Given the description of an element on the screen output the (x, y) to click on. 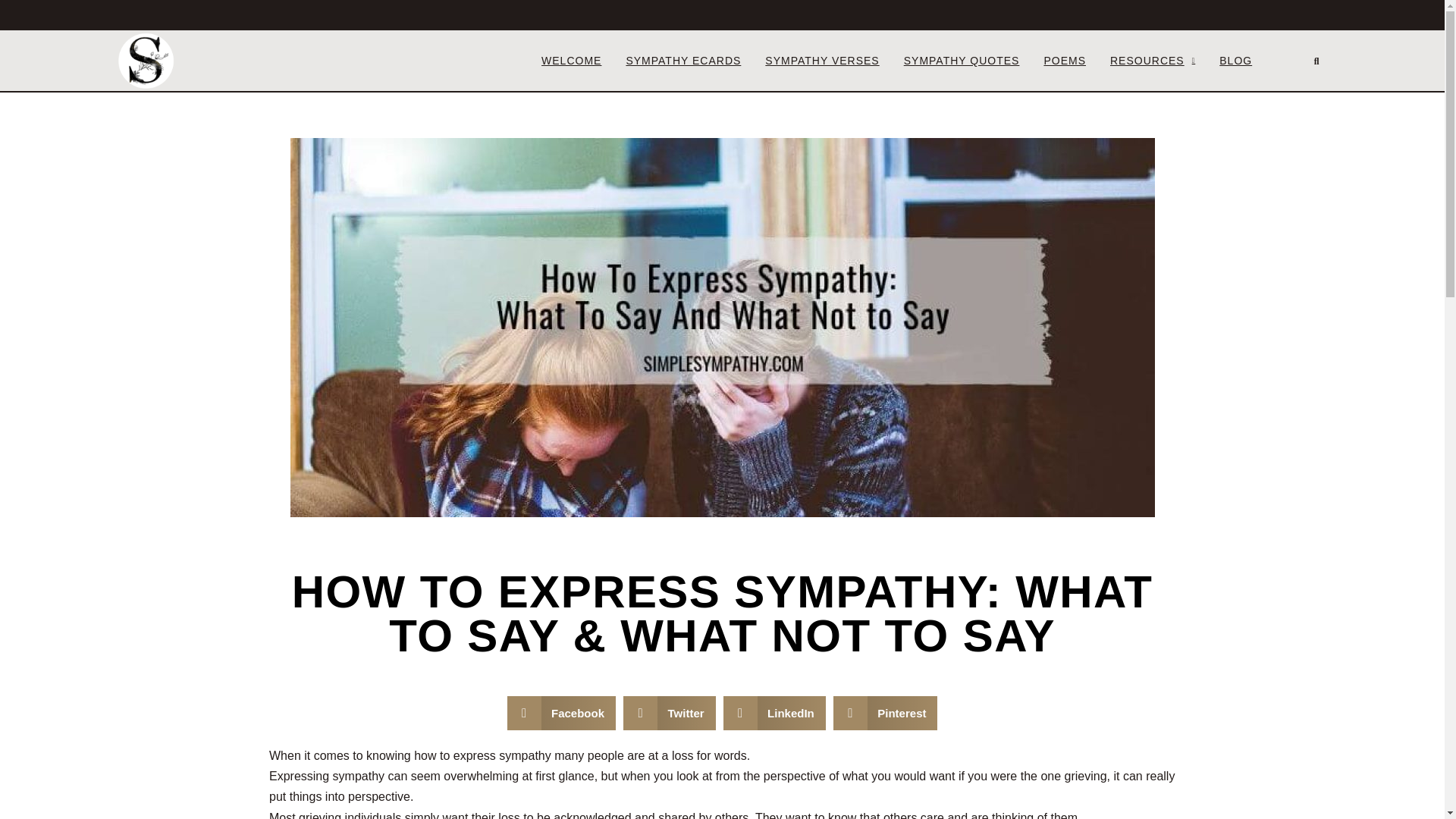
RESOURCES (1152, 60)
BLOG (1236, 60)
POEMS (1064, 60)
SYMPATHY QUOTES (962, 60)
WELCOME (571, 60)
SYMPATHY ECARDS (683, 60)
SYMPATHY VERSES (822, 60)
